Given the description of an element on the screen output the (x, y) to click on. 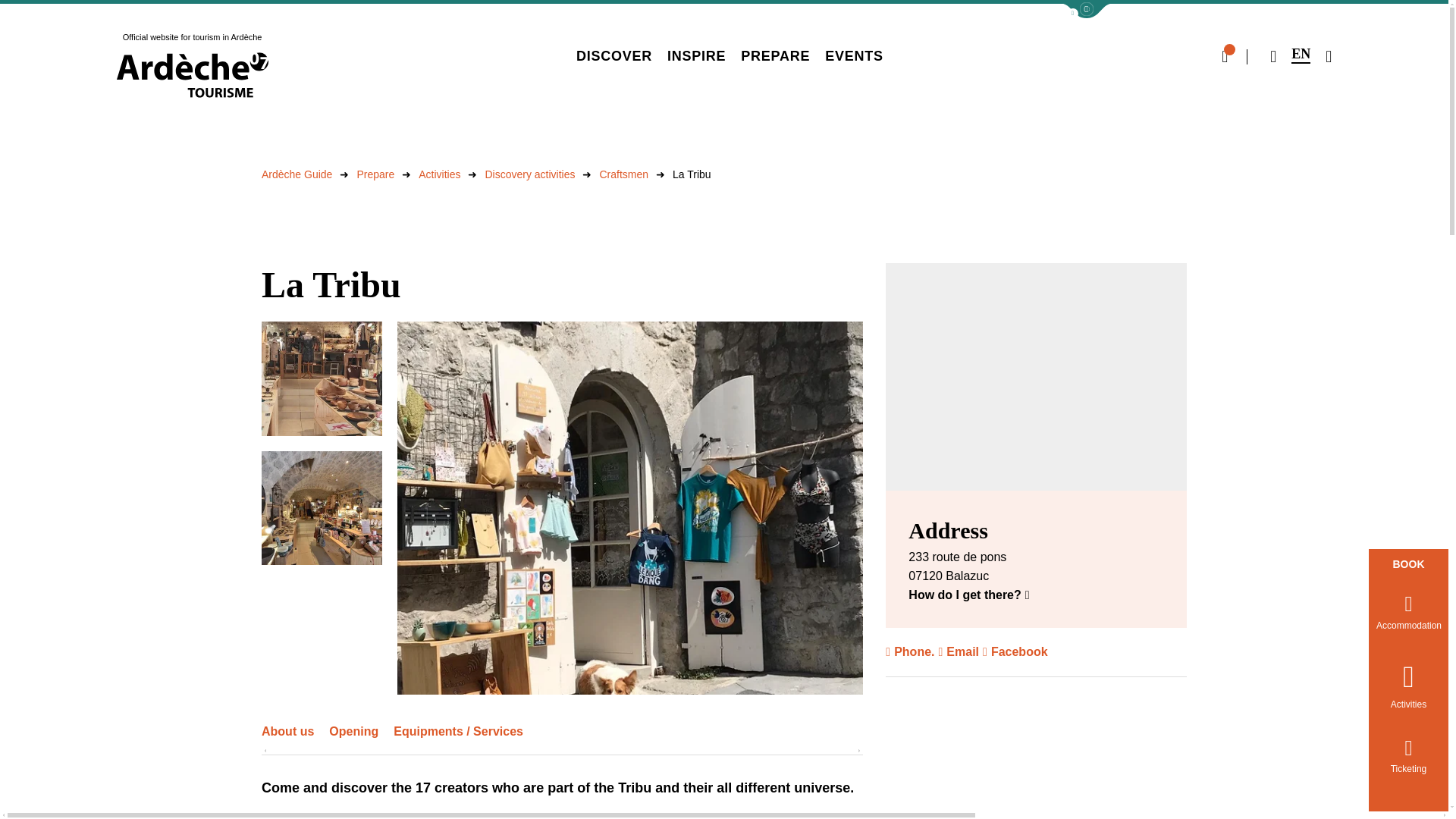
en-GB (1300, 54)
DISCOVER (614, 56)
INSPIRE (695, 56)
